Given the description of an element on the screen output the (x, y) to click on. 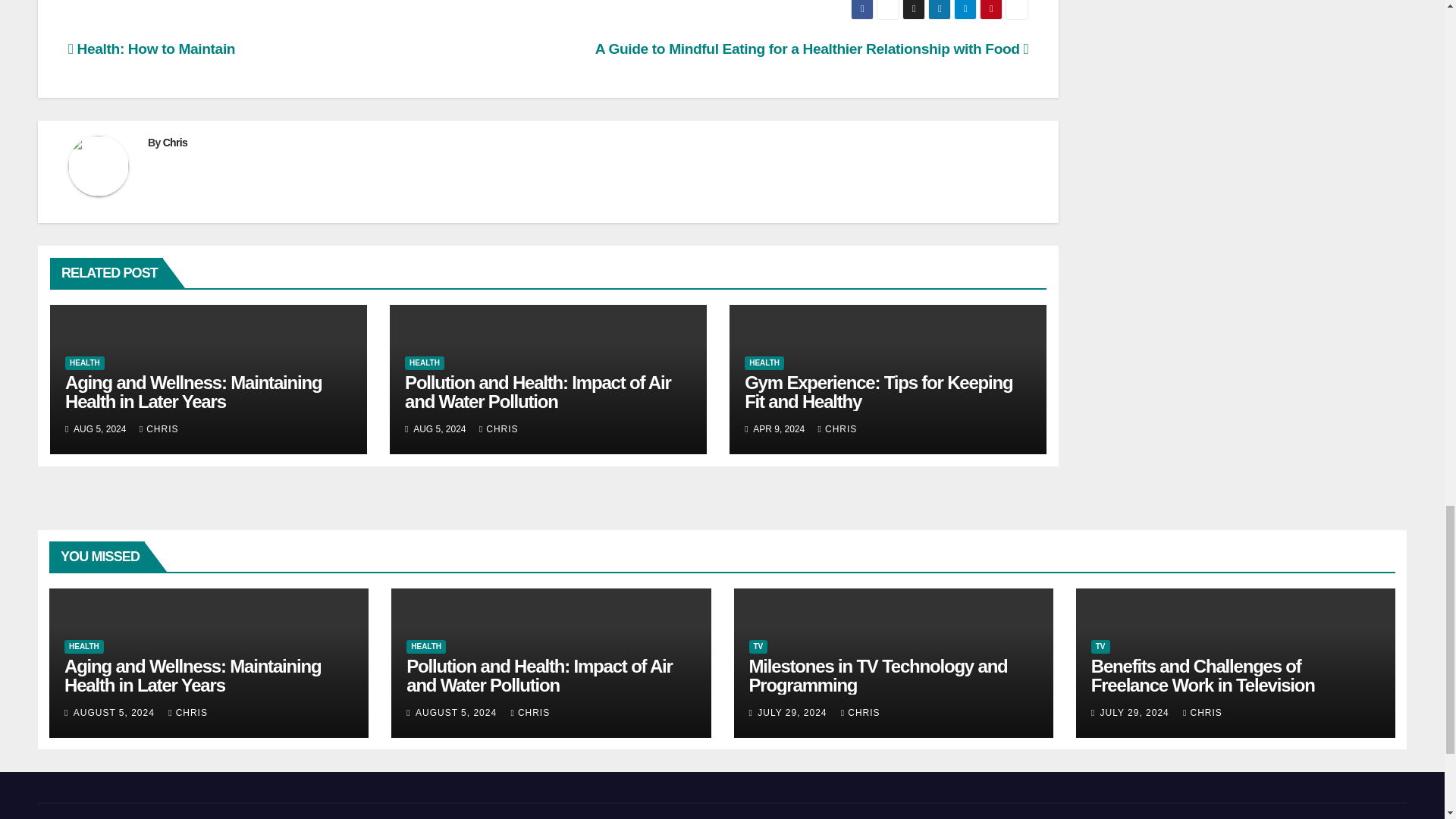
HEALTH (84, 363)
Chris (175, 142)
Health: How to Maintain (151, 48)
Permalink to: Milestones in TV Technology and Programming (878, 675)
